Given the description of an element on the screen output the (x, y) to click on. 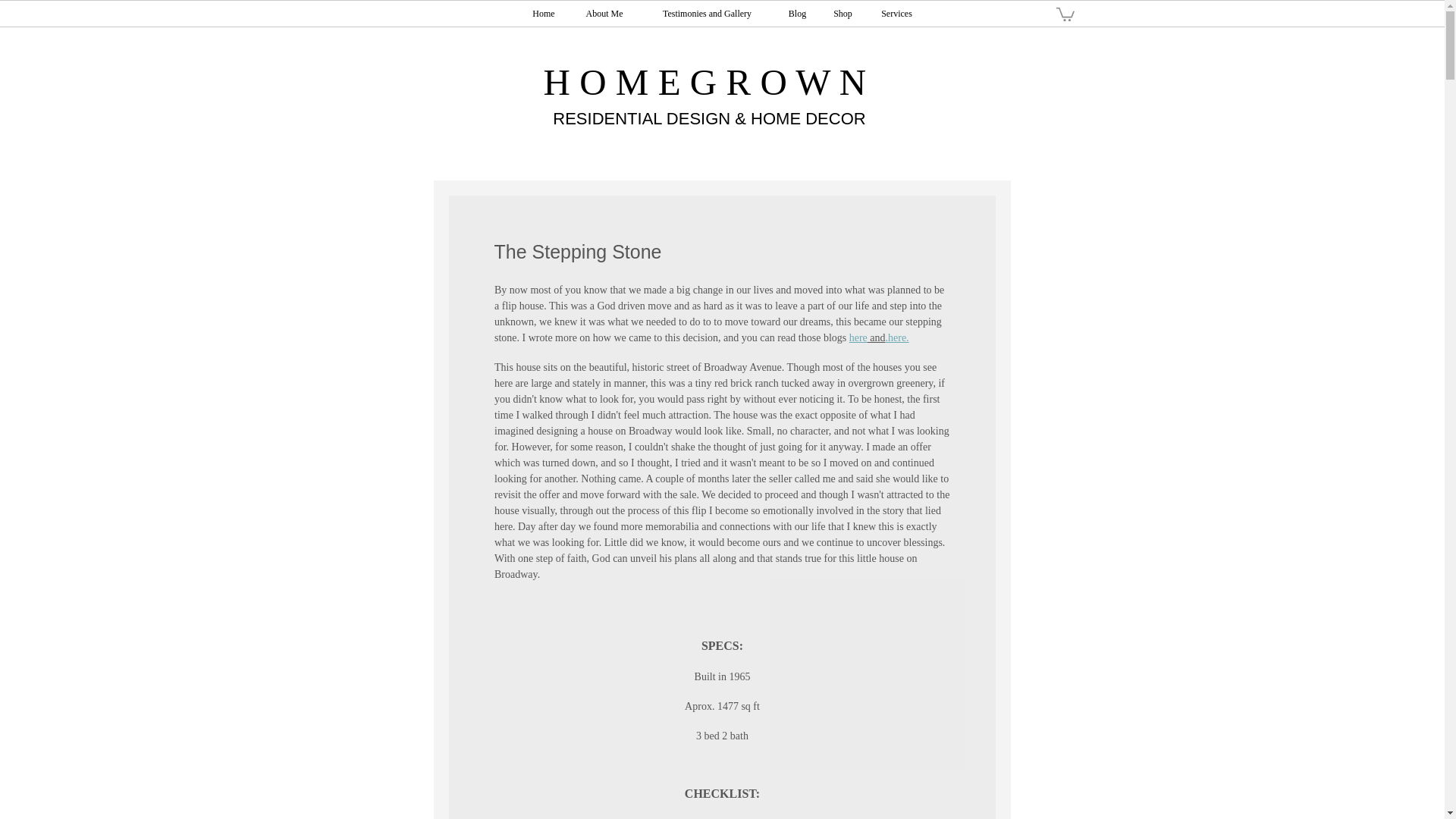
About Me (604, 13)
Testimonies and Gallery (706, 13)
Home (542, 13)
here (857, 337)
Services (896, 13)
Shop (842, 13)
Blog (796, 13)
here. (898, 337)
